Given the description of an element on the screen output the (x, y) to click on. 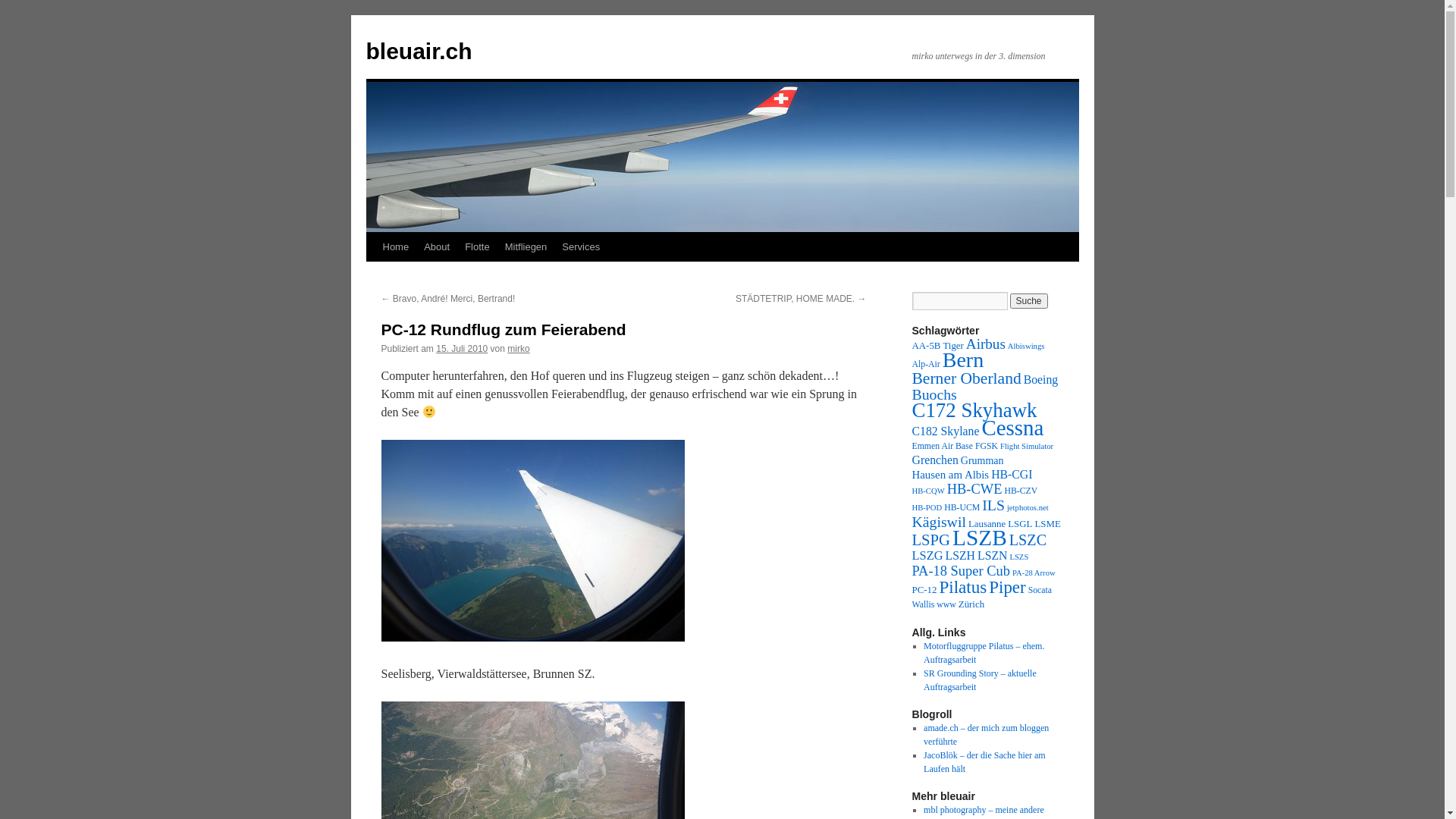
Piper Element type: text (1006, 586)
Albiswings Element type: text (1025, 346)
Airbus Element type: text (985, 343)
FGSK Element type: text (986, 446)
HB-FOT Element type: hover (532, 540)
HB-CZV Element type: text (1020, 490)
www Element type: text (946, 604)
15. Juli 2010 Element type: text (461, 348)
Berner Oberland Element type: text (965, 378)
PA-18 Super Cub Element type: text (960, 570)
AA-5B Tiger Element type: text (937, 345)
HB-POD Element type: text (926, 507)
Boeing Element type: text (1040, 379)
Buochs Element type: text (933, 393)
LSZC Element type: text (1027, 539)
LSZB Element type: text (979, 537)
jetphotos.net Element type: text (1027, 507)
LSZG Element type: text (926, 555)
Bern Element type: text (962, 359)
LSPG Element type: text (930, 539)
Flight Simulator Element type: text (1026, 446)
mirko Element type: text (518, 348)
Services Element type: text (580, 246)
LSME Element type: text (1047, 523)
Lausanne Element type: text (986, 523)
Grenchen Element type: text (934, 459)
PA-28 Arrow Element type: text (1033, 572)
Grumman Element type: text (982, 460)
Cessna Element type: text (1012, 427)
HB-CQW Element type: text (927, 490)
LSZH Element type: text (960, 555)
Alp-Air Element type: text (925, 364)
ILS Element type: text (993, 504)
Home Element type: text (395, 246)
bleuair.ch Element type: text (418, 50)
C172 Skyhawk Element type: text (973, 409)
Zum Inhalt springen Element type: text (372, 275)
HB-UCM Element type: text (961, 507)
Hausen am Albis Element type: text (949, 474)
PC-12 Element type: text (923, 589)
Flotte Element type: text (477, 246)
About Element type: text (436, 246)
LSZS Element type: text (1018, 556)
LSZN Element type: text (992, 555)
HB-CWE Element type: text (974, 488)
LSGL Element type: text (1019, 523)
C182 Skylane Element type: text (945, 430)
HB-CGI Element type: text (1011, 473)
Pilatus Element type: text (962, 586)
Wallis Element type: text (922, 604)
Socata Element type: text (1039, 590)
Mitfliegen Element type: text (526, 246)
Emmen Air Base Element type: text (941, 446)
Suche Element type: text (1029, 300)
